Given the description of an element on the screen output the (x, y) to click on. 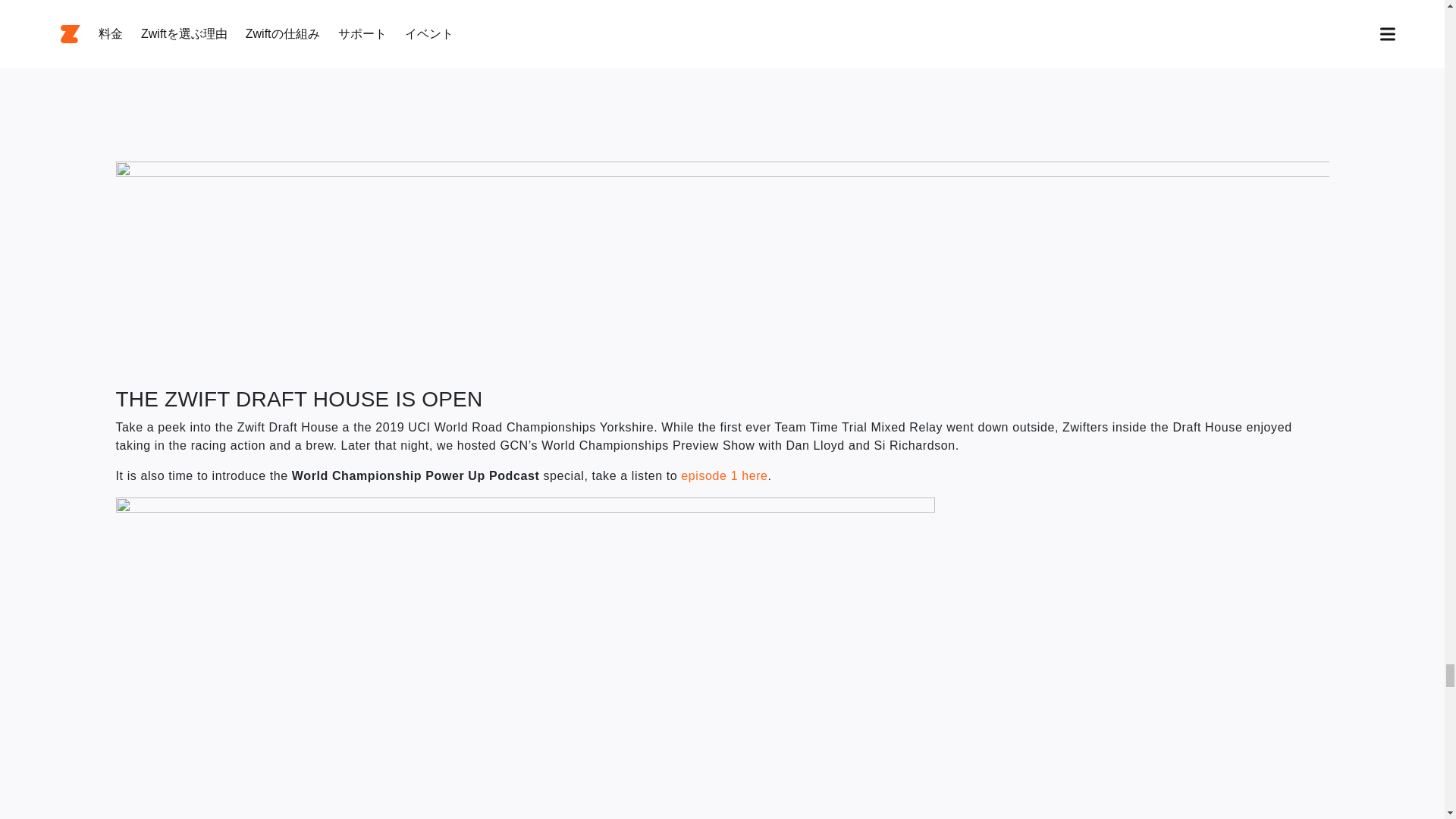
episode 1 here (724, 475)
